Given the description of an element on the screen output the (x, y) to click on. 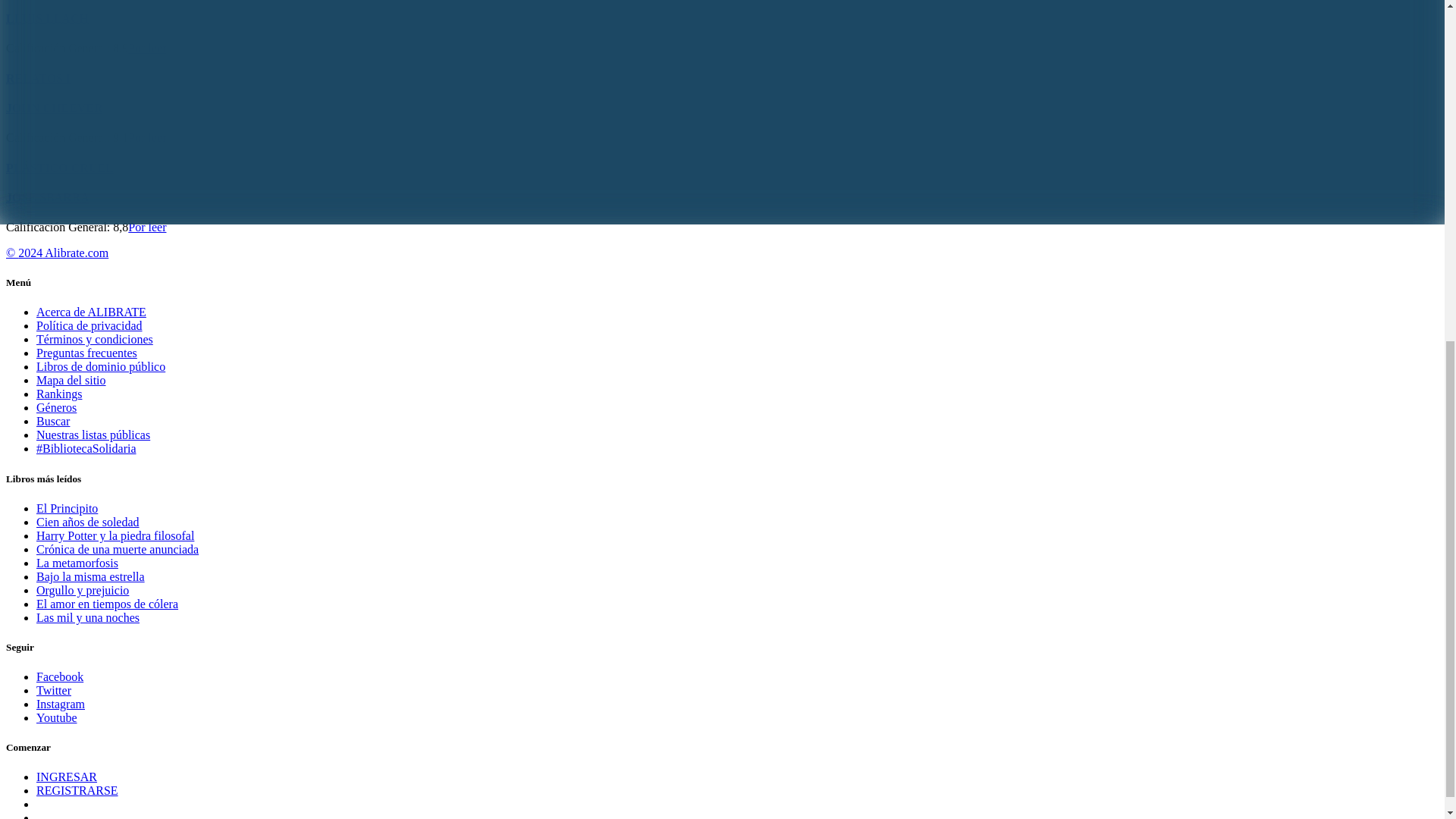
Buscar (52, 420)
El Principito (66, 508)
La metamorfosis (76, 562)
Preguntas frecuentes (86, 352)
Harry Potter y la piedra filosofal (114, 535)
Rankings (58, 393)
Acerca de ALIBRATE (91, 311)
Por leer (146, 47)
Por leer (146, 137)
Mapa del sitio (71, 379)
Por leer (146, 226)
